Given the description of an element on the screen output the (x, y) to click on. 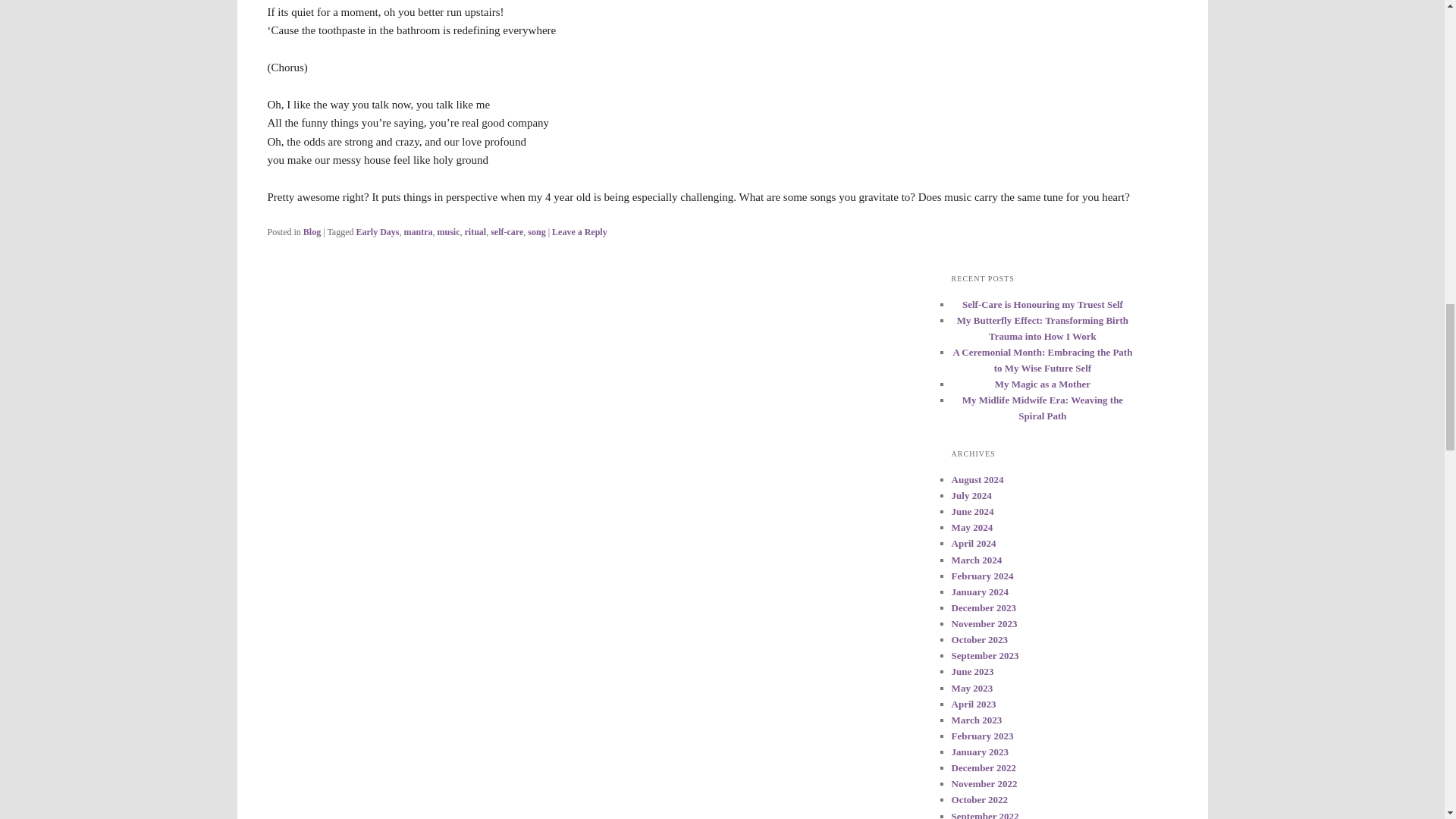
July 2024 (971, 495)
music (449, 231)
ritual (475, 231)
self-care (506, 231)
My Magic as a Mother (1043, 383)
Leave a Reply (579, 231)
song (535, 231)
May 2024 (972, 527)
